Given the description of an element on the screen output the (x, y) to click on. 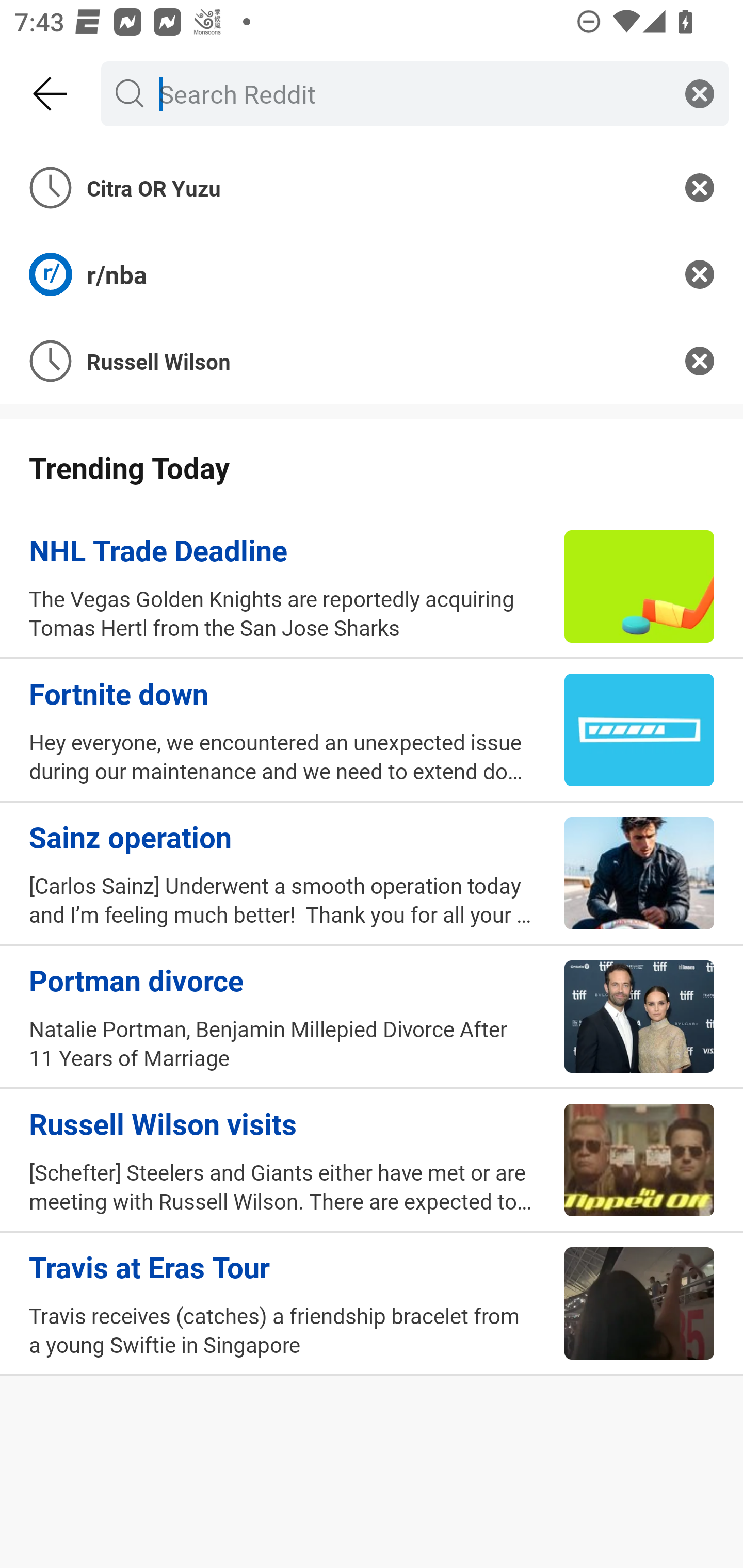
Back (50, 93)
Search Reddit (410, 93)
Clear search (699, 93)
Citra OR Yuzu Recent search: Citra OR Yuzu Remove (371, 187)
Remove (699, 187)
r/nba Recent search: r/nba Remove (371, 274)
Remove (699, 274)
Remove (699, 361)
